Given the description of an element on the screen output the (x, y) to click on. 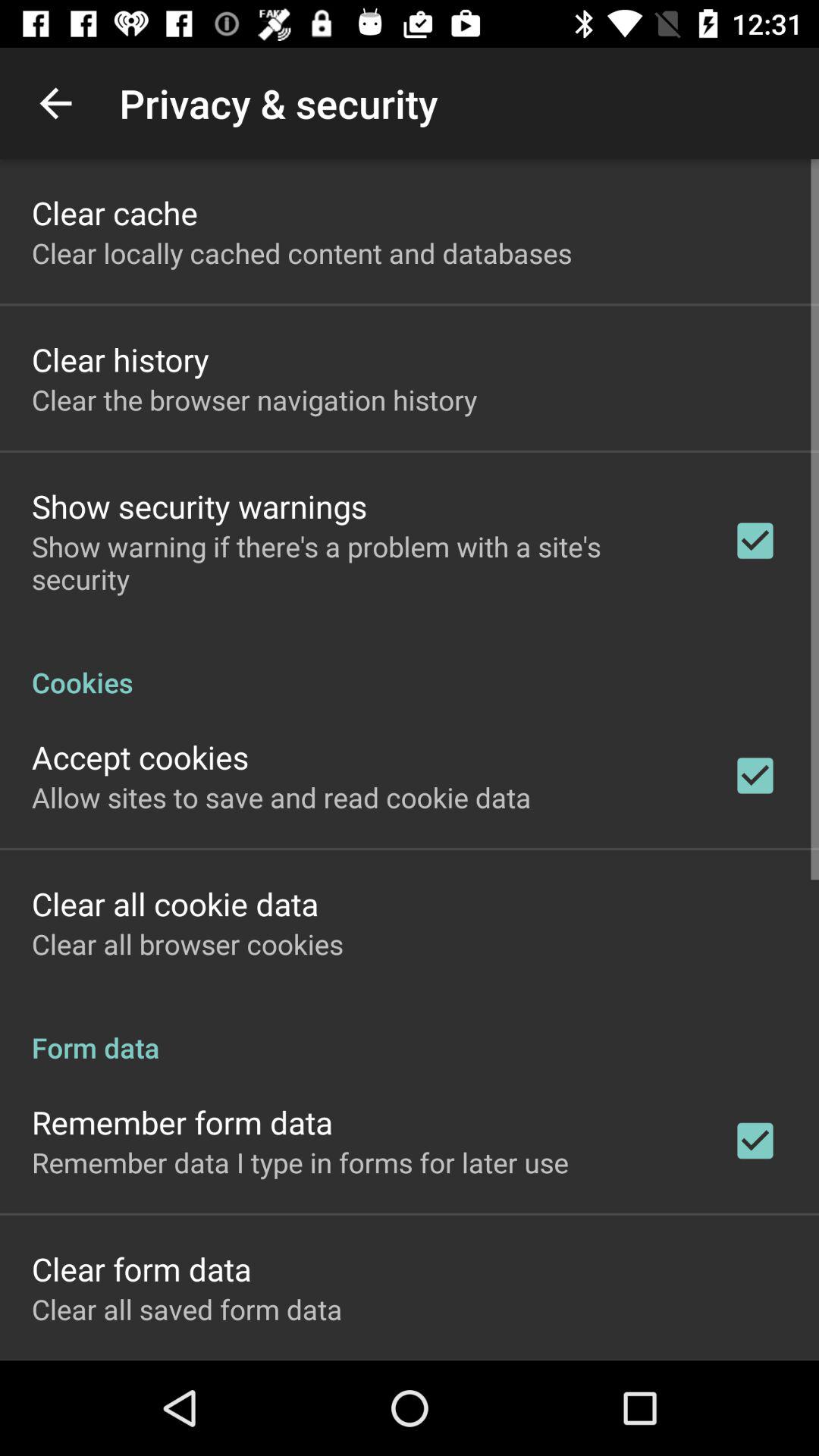
choose item above allow sites to icon (140, 756)
